Given the description of an element on the screen output the (x, y) to click on. 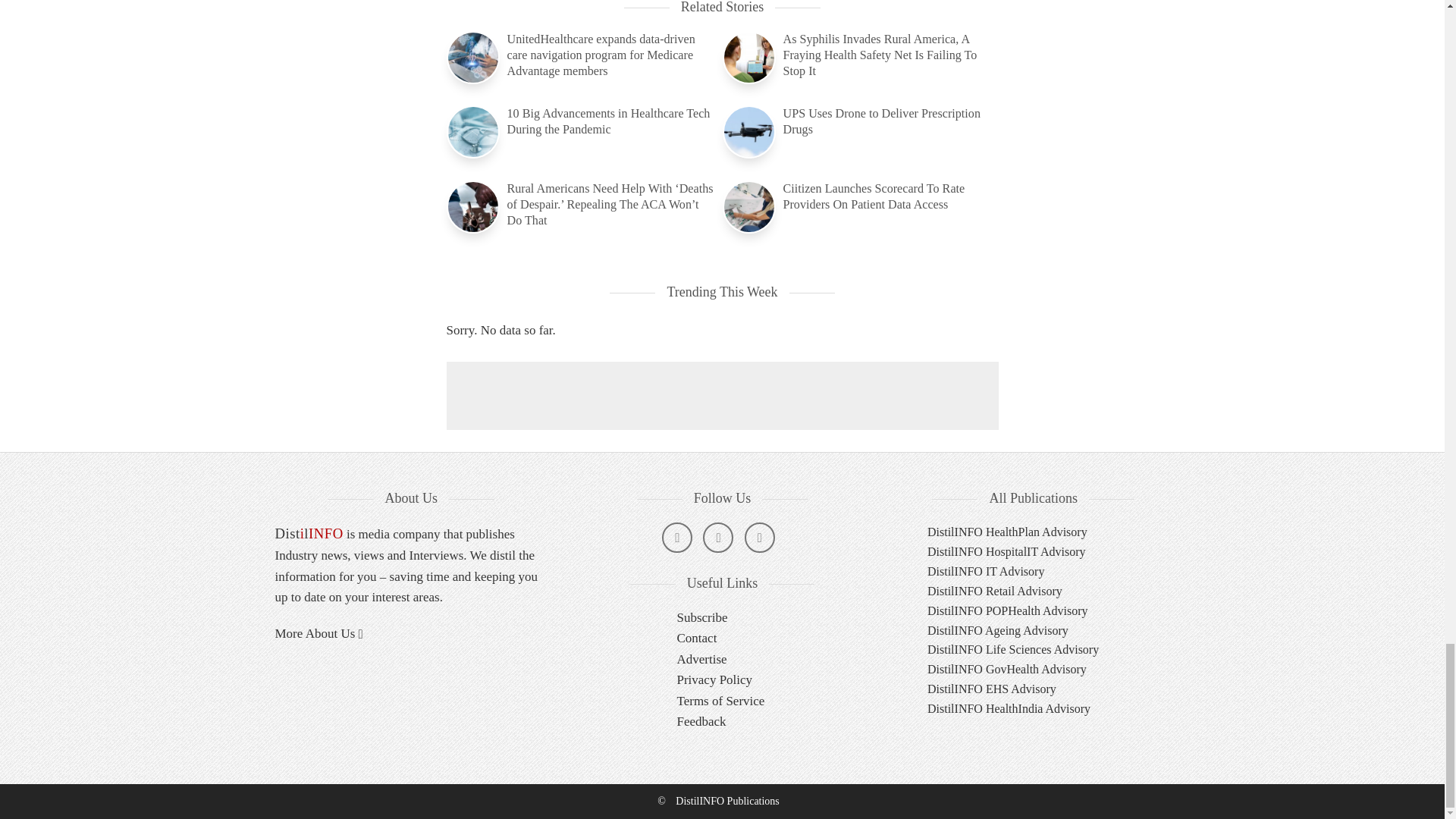
10 Big Advancements in Healthcare Tech During the Pandemic (579, 121)
